Given the description of an element on the screen output the (x, y) to click on. 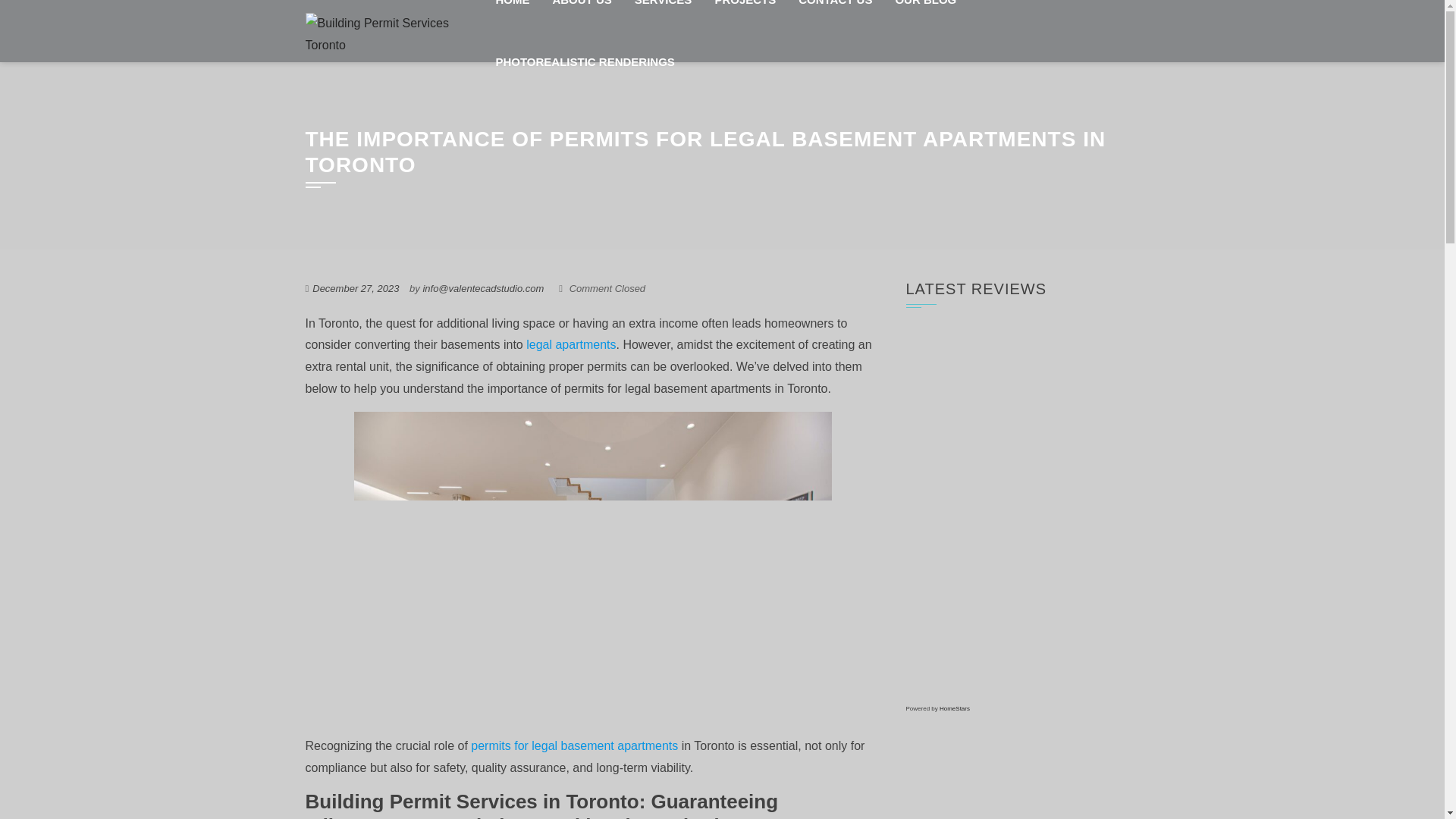
test (835, 15)
SERVICES (663, 15)
permits for legal basement apartments (574, 745)
PHOTOREALISTIC RENDERINGS (584, 62)
CONTACT US (835, 15)
HOME (511, 15)
December 27, 2023 (355, 288)
ABOUT US (581, 15)
PROJECTS (745, 15)
legal apartments (570, 344)
OUR BLOG (925, 15)
HomeStars (954, 708)
